Given the description of an element on the screen output the (x, y) to click on. 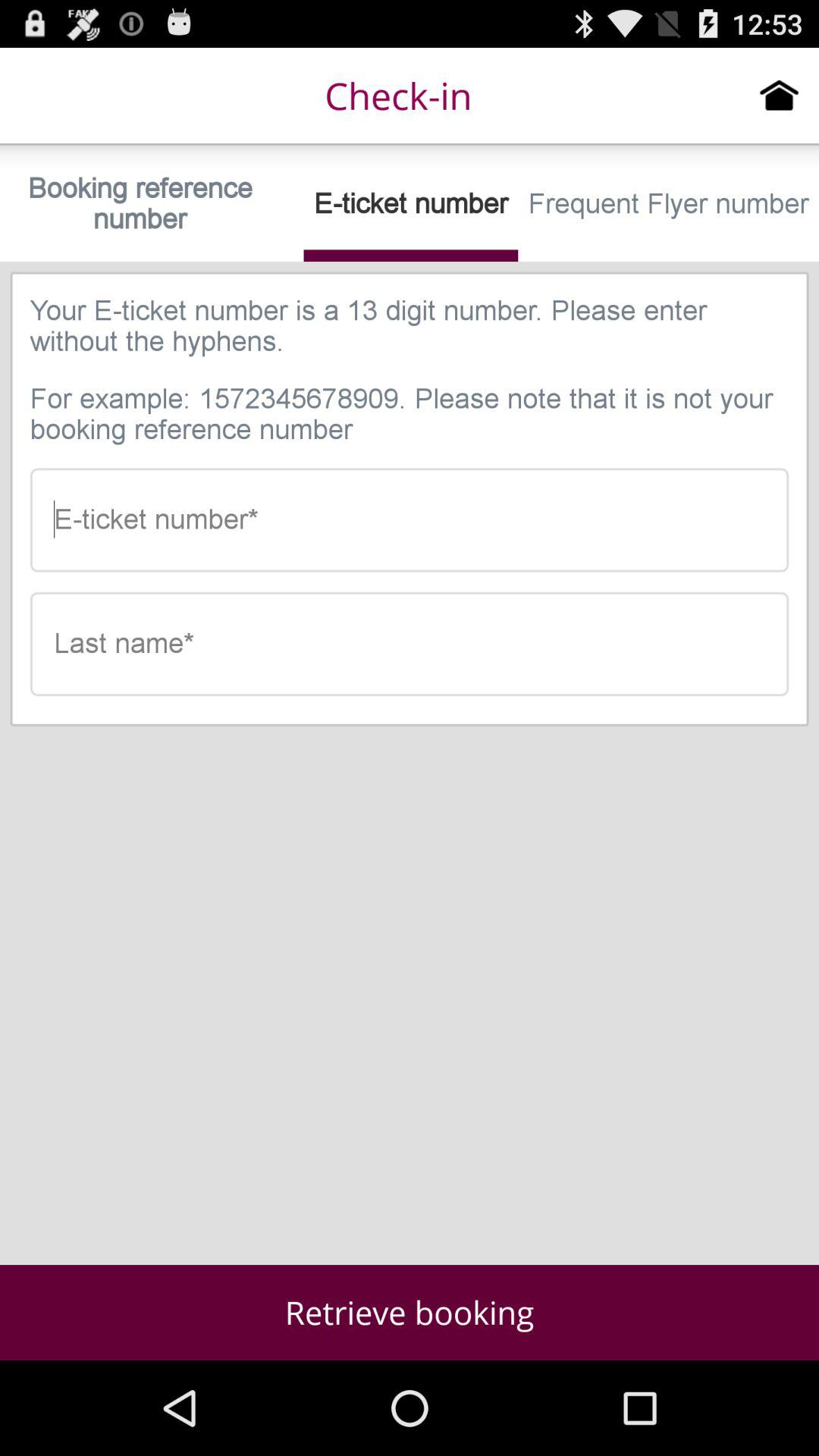
click home icon (779, 95)
